Given the description of an element on the screen output the (x, y) to click on. 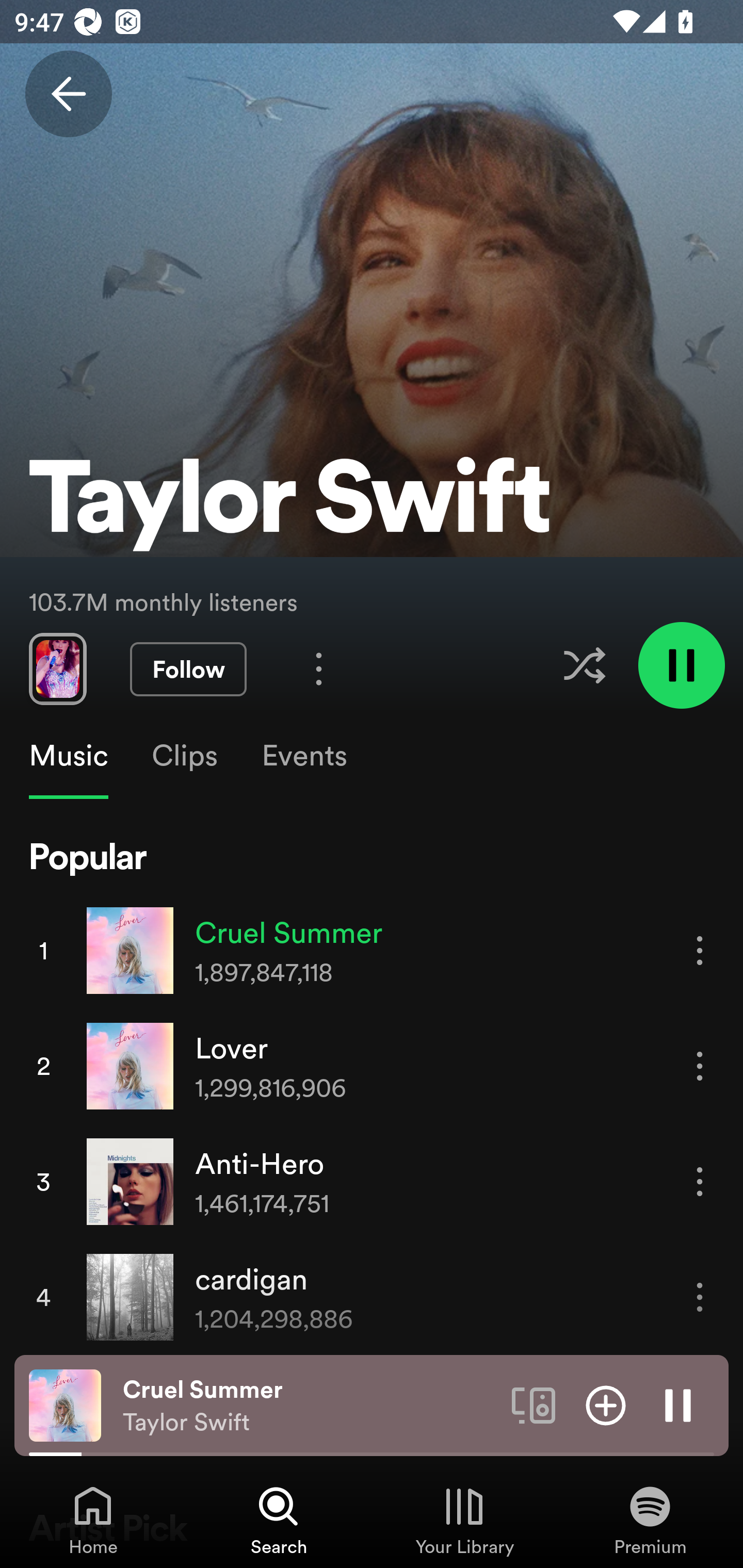
Back (68, 93)
Pause artist (681, 664)
Enable shuffle for this artist (583, 665)
Swipe through previews of tracks from this artist. (57, 668)
More options for artist Taylor Swift (318, 668)
Follow (188, 669)
Clips (184, 755)
Events (303, 755)
More options for song Cruel Summer (699, 950)
2 Lover 1,299,816,906 More options for song Lover (371, 1066)
More options for song Lover (699, 1066)
More options for song Anti-Hero (699, 1181)
More options for song cardigan (699, 1297)
Cruel Summer Taylor Swift (309, 1405)
The cover art of the currently playing track (64, 1404)
Connect to a device. Opens the devices menu (533, 1404)
Add item (605, 1404)
Pause (677, 1404)
Home, Tab 1 of 4 Home Home (92, 1519)
Search, Tab 2 of 4 Search Search (278, 1519)
Your Library, Tab 3 of 4 Your Library Your Library (464, 1519)
Premium, Tab 4 of 4 Premium Premium (650, 1519)
